Given the description of an element on the screen output the (x, y) to click on. 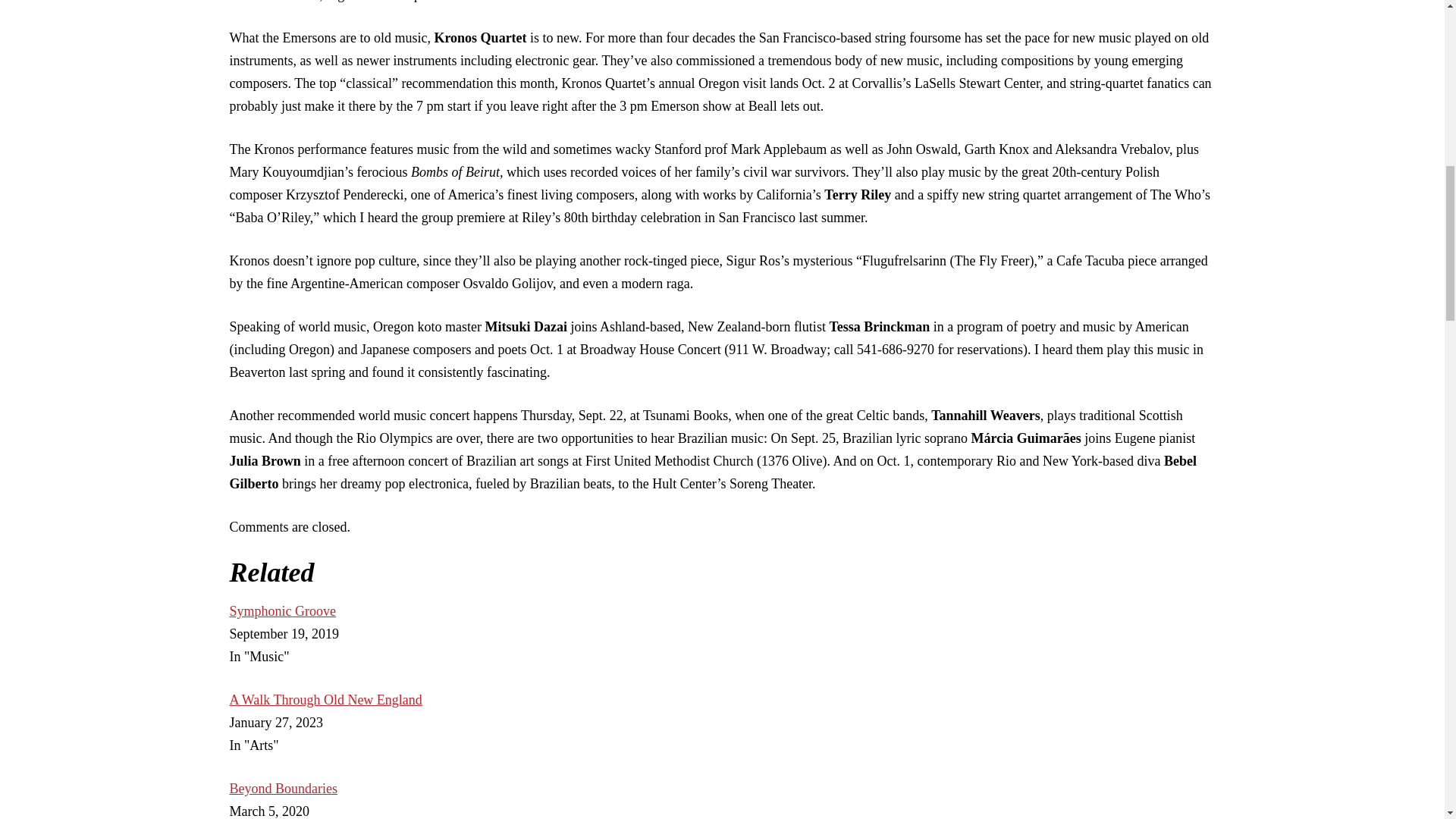
A Walk Through Old New England (325, 699)
Symphonic Groove (281, 611)
